Given the description of an element on the screen output the (x, y) to click on. 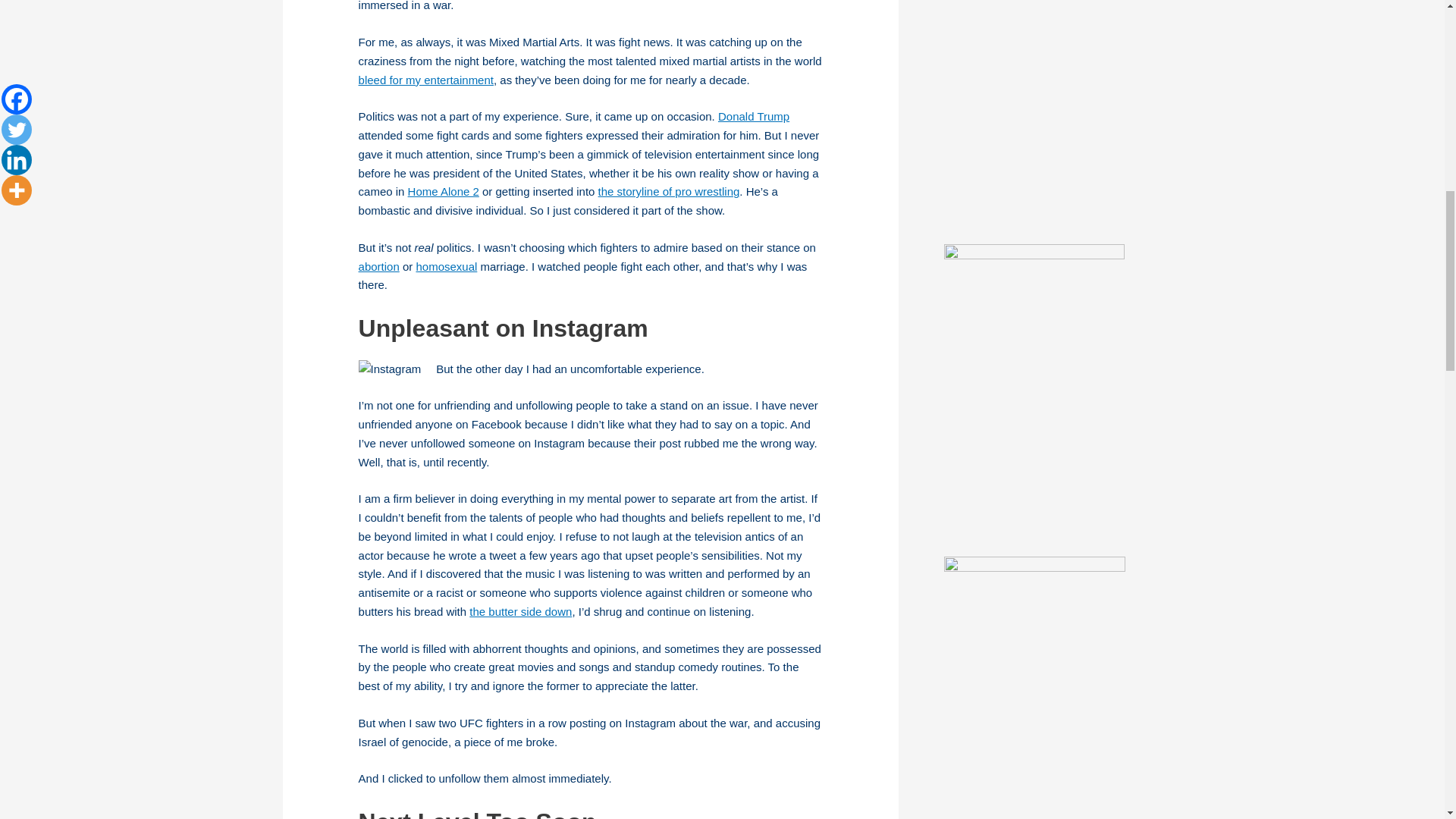
abortion (378, 266)
the butter side down (520, 611)
Donald Trump (753, 115)
homosexual (445, 266)
Home Alone 2 (443, 191)
the storyline of pro wrestling (668, 191)
bleed for my entertainment (425, 79)
